Given the description of an element on the screen output the (x, y) to click on. 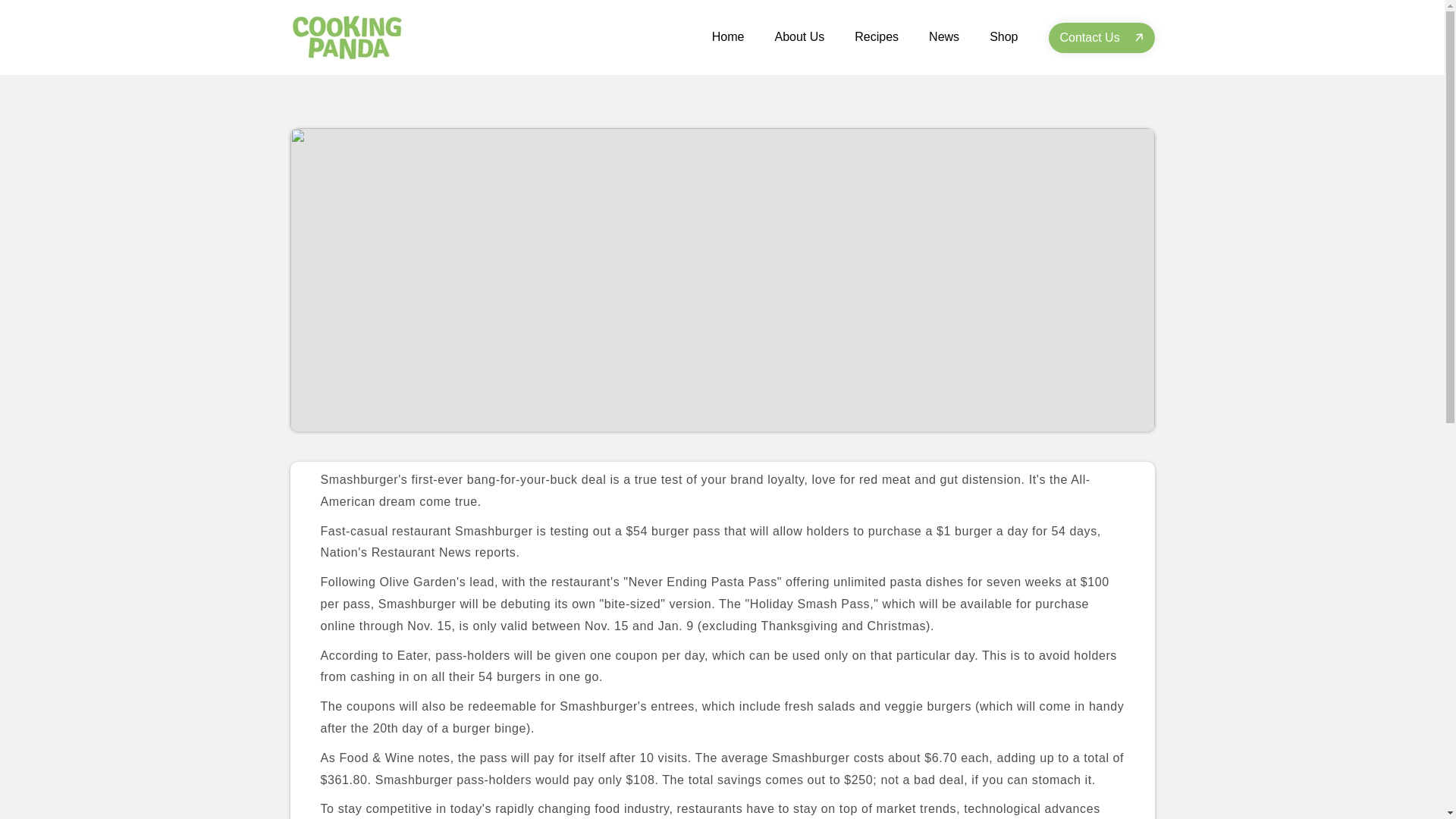
Home (728, 36)
About Us (799, 36)
Contact Us (1101, 37)
News (944, 36)
Skip to content (45, 22)
Shop (1003, 36)
Recipes (877, 36)
